Given the description of an element on the screen output the (x, y) to click on. 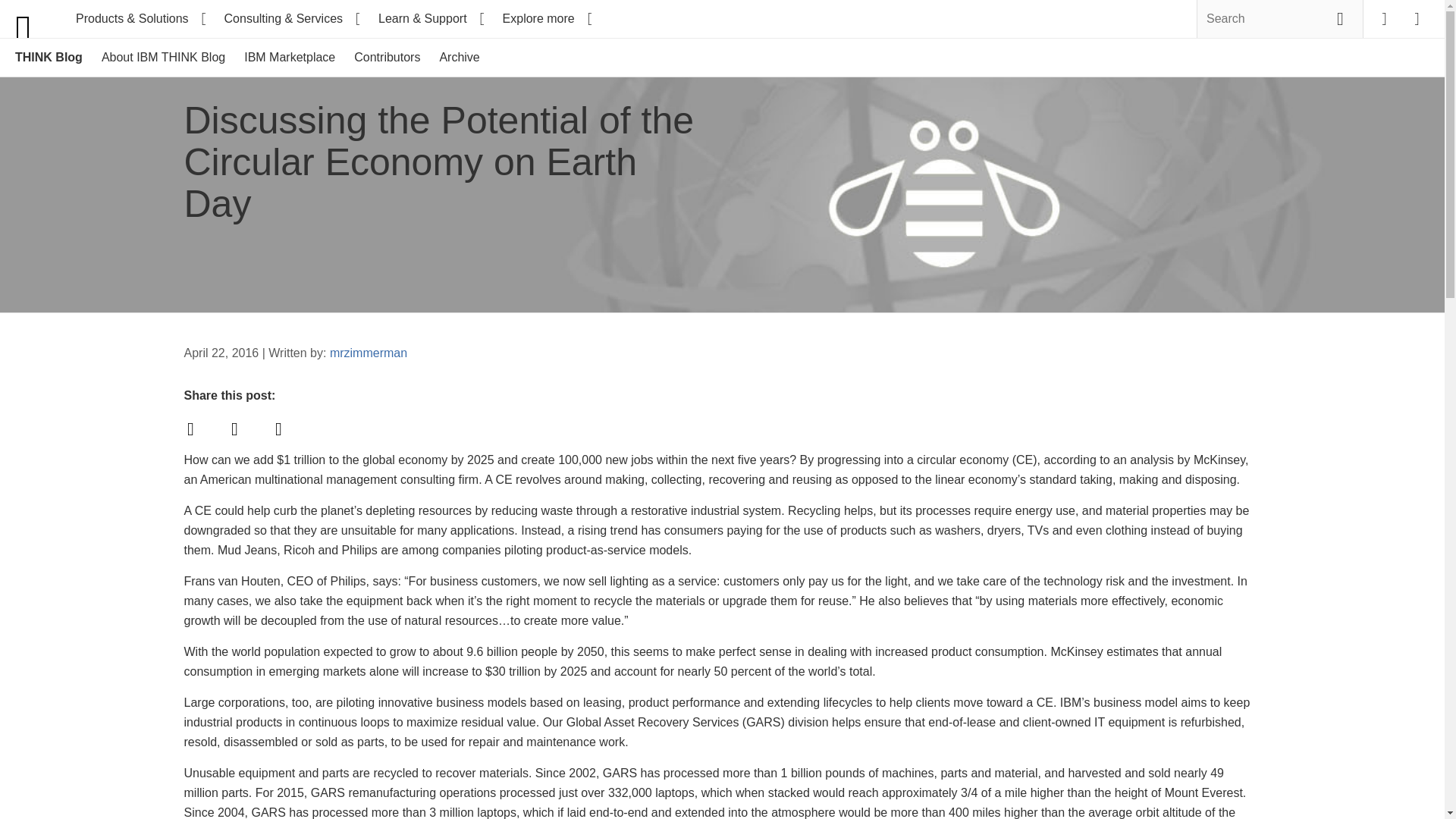
Explore more (546, 18)
Posts by mrzimmerman (368, 352)
